Given the description of an element on the screen output the (x, y) to click on. 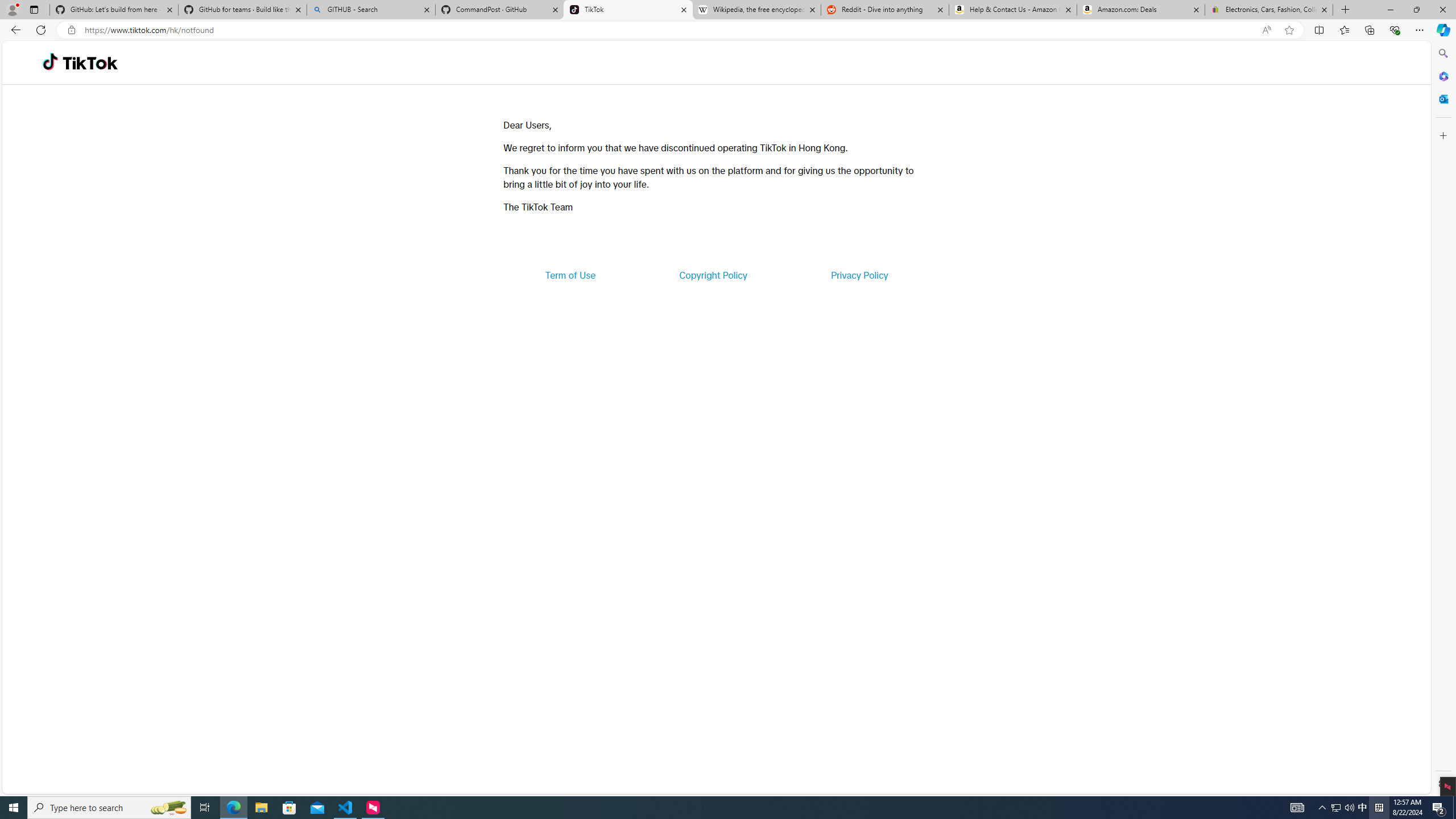
Wikipedia, the free encyclopedia (756, 9)
TikTok (628, 9)
Privacy Policy (858, 274)
Help & Contact Us - Amazon Customer Service (1012, 9)
